Given the description of an element on the screen output the (x, y) to click on. 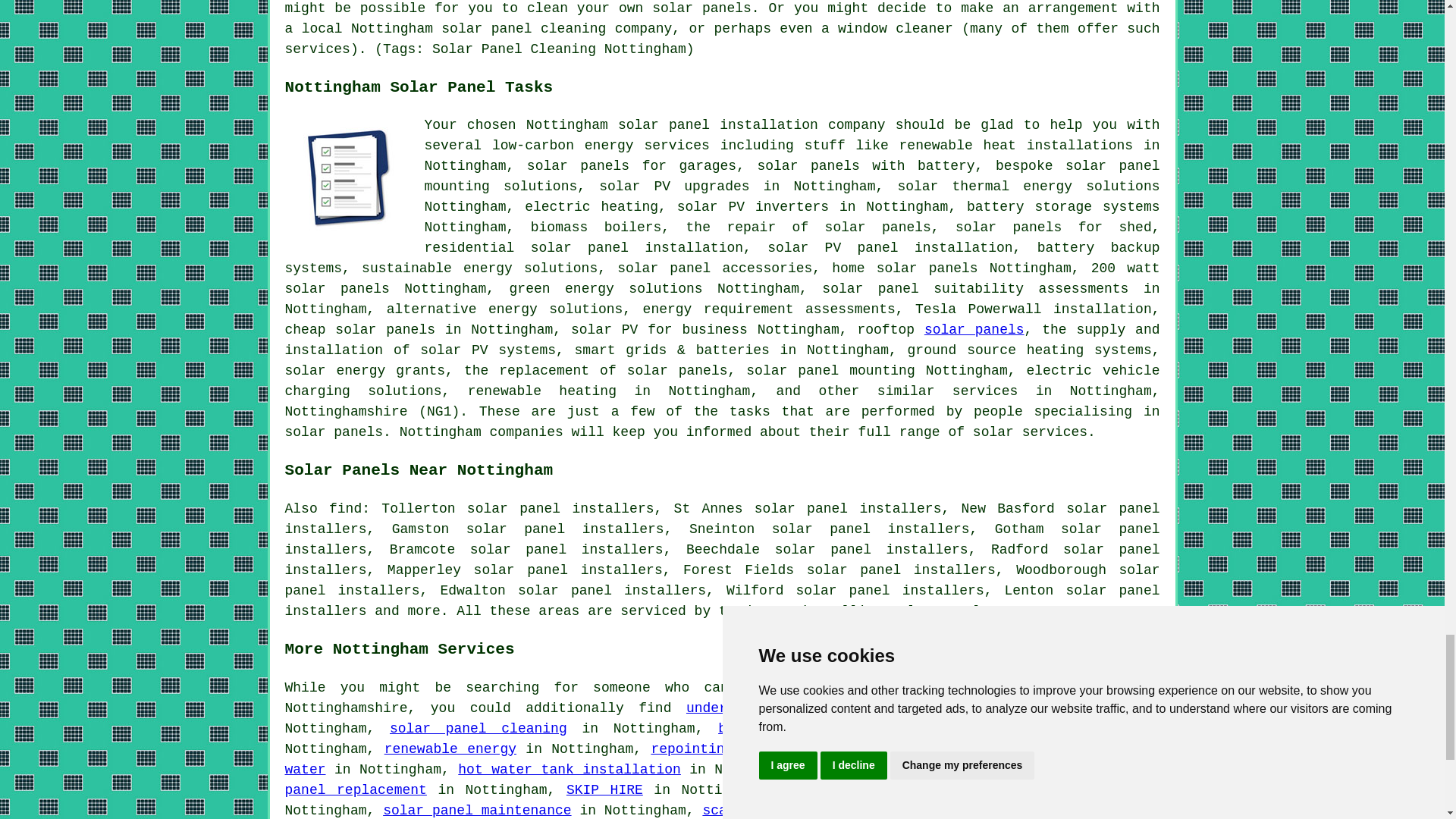
solar panels (577, 165)
Nottingham Solar Panel Tasks (349, 179)
solar panels with battery (865, 165)
